Given the description of an element on the screen output the (x, y) to click on. 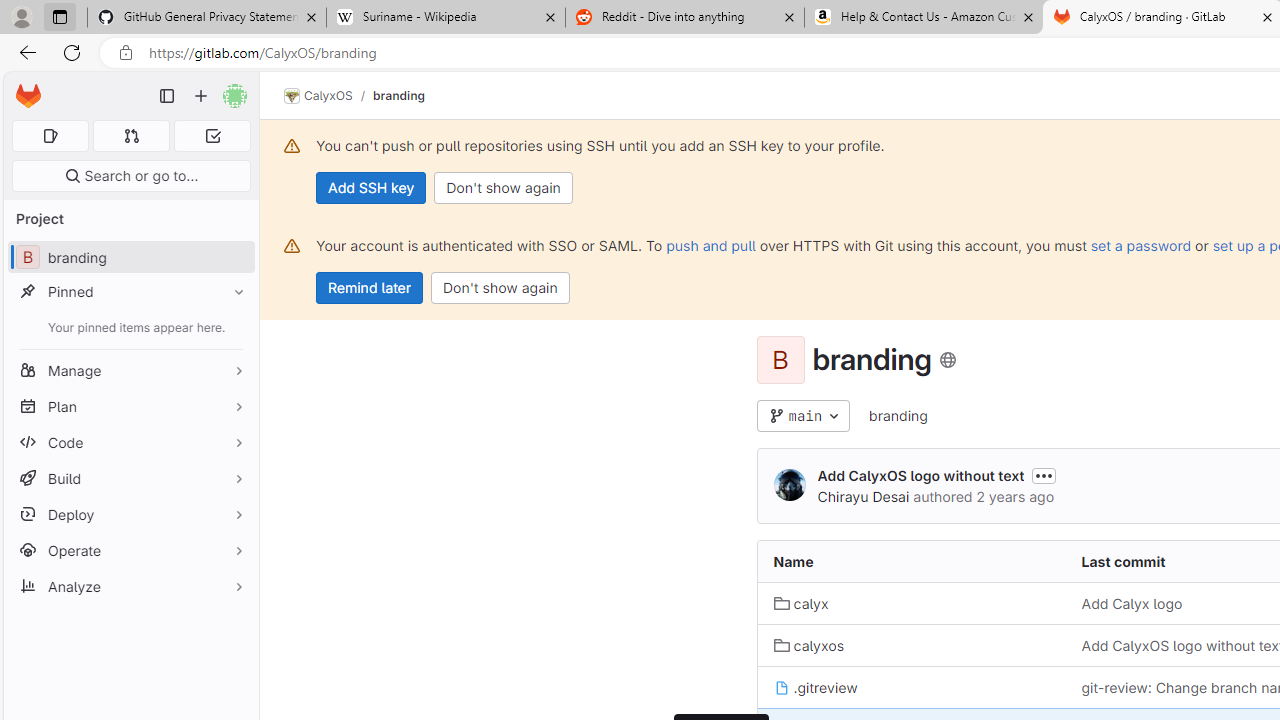
.gitreview (815, 686)
